Given the description of an element on the screen output the (x, y) to click on. 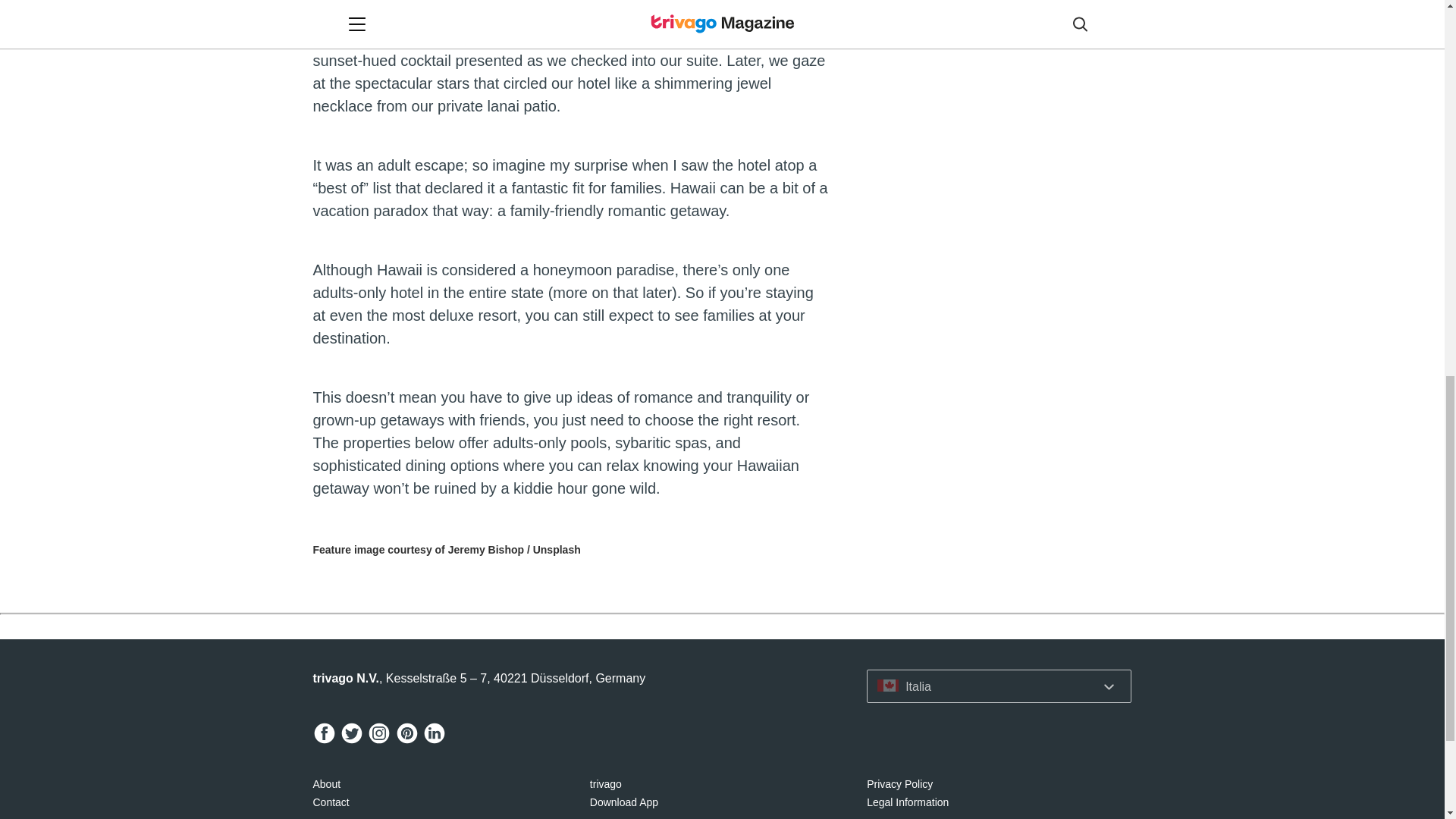
Download App (623, 802)
About (326, 784)
Privacy Policy (899, 784)
Contact (331, 802)
Legal Information (907, 802)
trivago (605, 784)
